Given the description of an element on the screen output the (x, y) to click on. 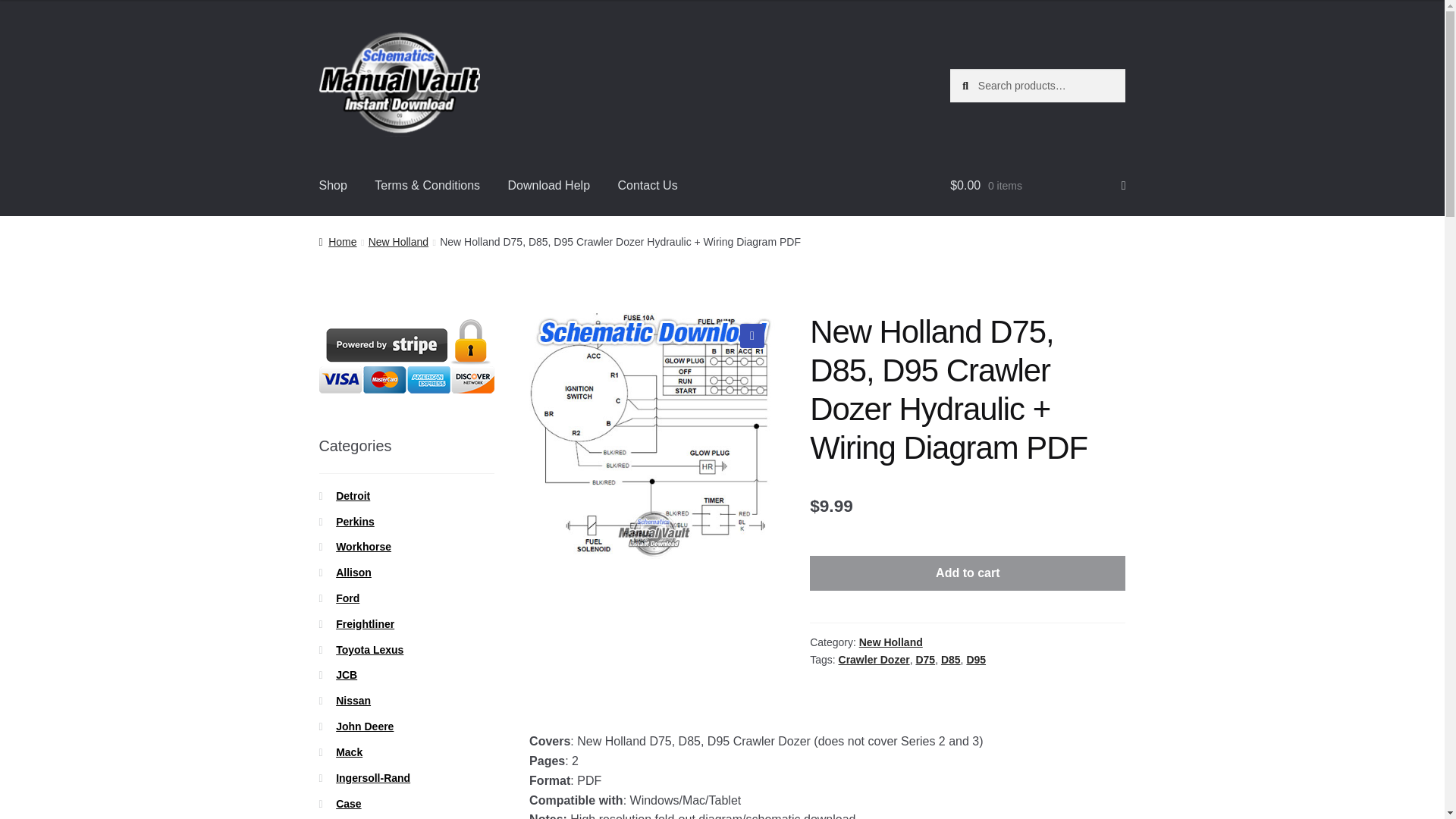
View your shopping cart (1037, 185)
D95 (975, 659)
Perkins (355, 521)
Home (337, 241)
Contact Us (646, 185)
Add to cart (967, 573)
New Holland (891, 642)
Crawler Dozer (874, 659)
Detroit (352, 495)
